Given the description of an element on the screen output the (x, y) to click on. 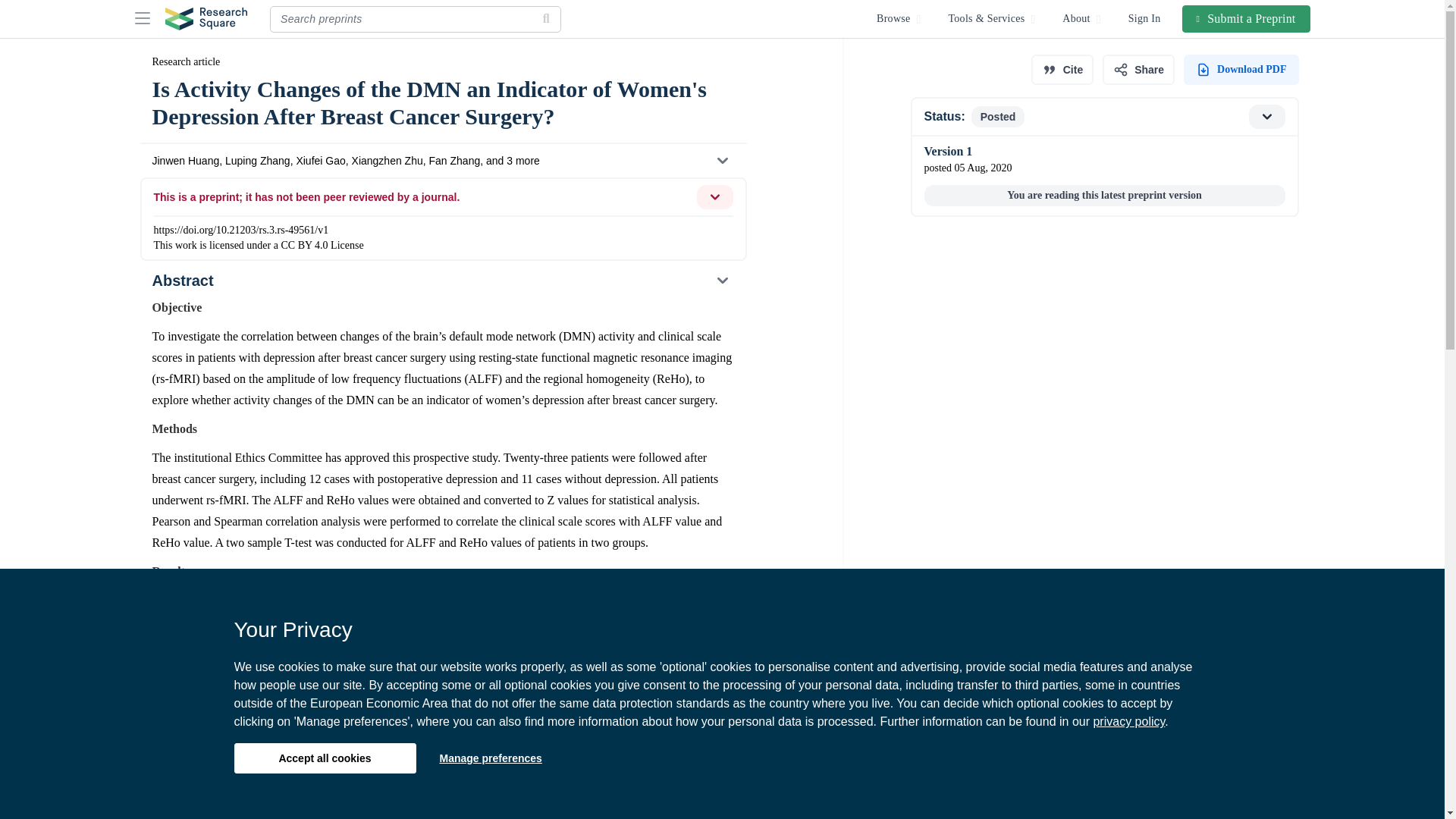
Abstract (442, 280)
privacy policy (1128, 721)
Sign In (1144, 18)
Accept all cookies (323, 757)
Manage preferences (490, 757)
Submit a Preprint (1246, 18)
